Given the description of an element on the screen output the (x, y) to click on. 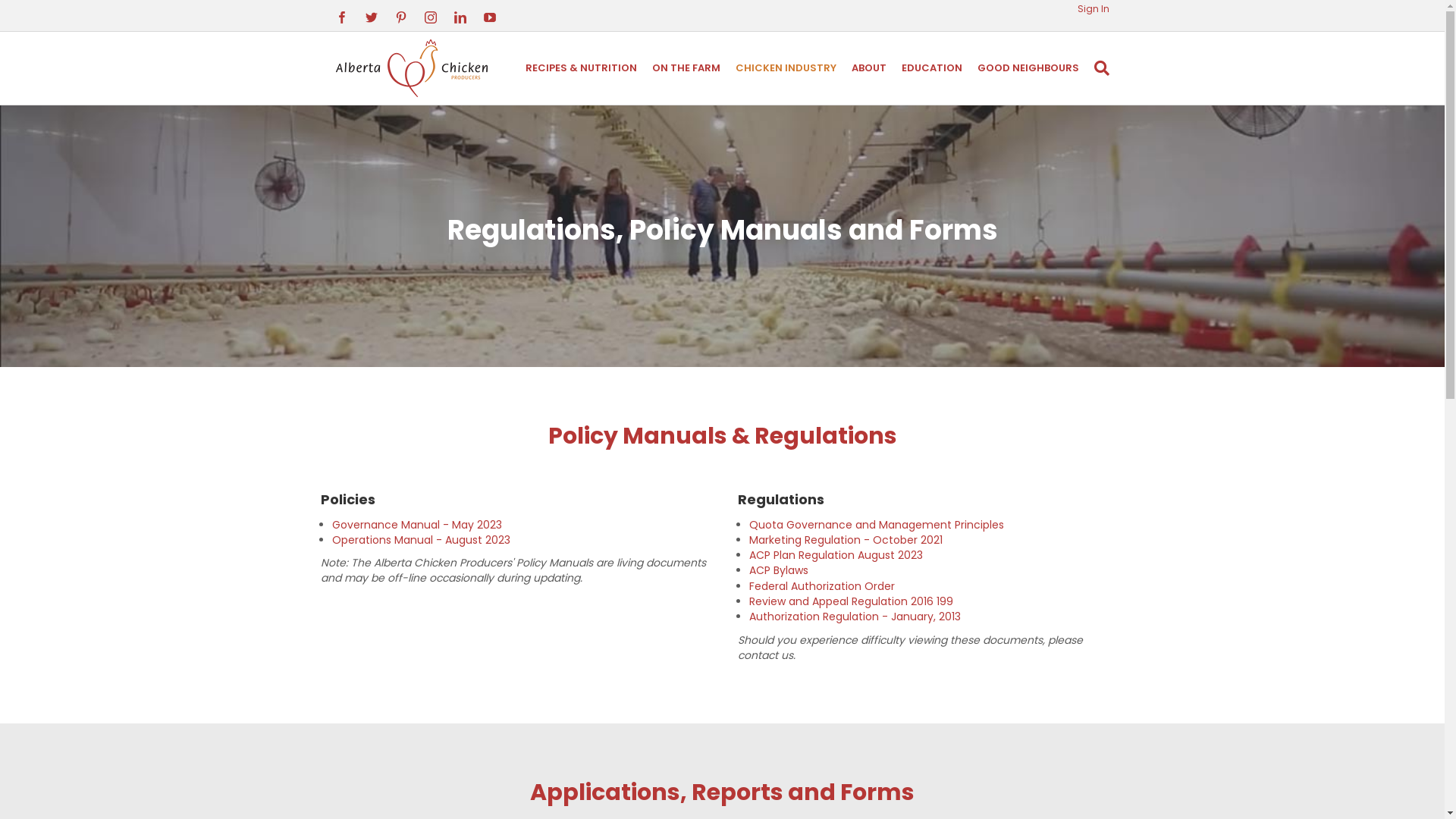
Sign In Element type: text (1092, 8)
Review and Appeal Regulation 2016 199 Element type: text (851, 600)
RECIPES & NUTRITION Element type: text (580, 68)
GOOD NEIGHBOURS Element type: text (1027, 68)
ACP Bylaws Element type: text (778, 569)
ON THE FARM Element type: text (686, 68)
CHICKEN INDUSTRY Element type: text (786, 68)
Marketing Regulation - October 2021 Element type: text (845, 539)
Operations Manual - August 2023 Element type: text (421, 539)
Quota Governance and Management Principles Element type: text (876, 524)
EDUCATION Element type: text (931, 68)
ABOUT Element type: text (868, 68)
Federal Authorization Order Element type: text (821, 585)
Governance Manual - May 2023 Element type: text (417, 524)
Authorization Regulation - January, 2013 Element type: text (854, 616)
ACP Plan Regulation August 2023 Element type: text (835, 554)
